Given the description of an element on the screen output the (x, y) to click on. 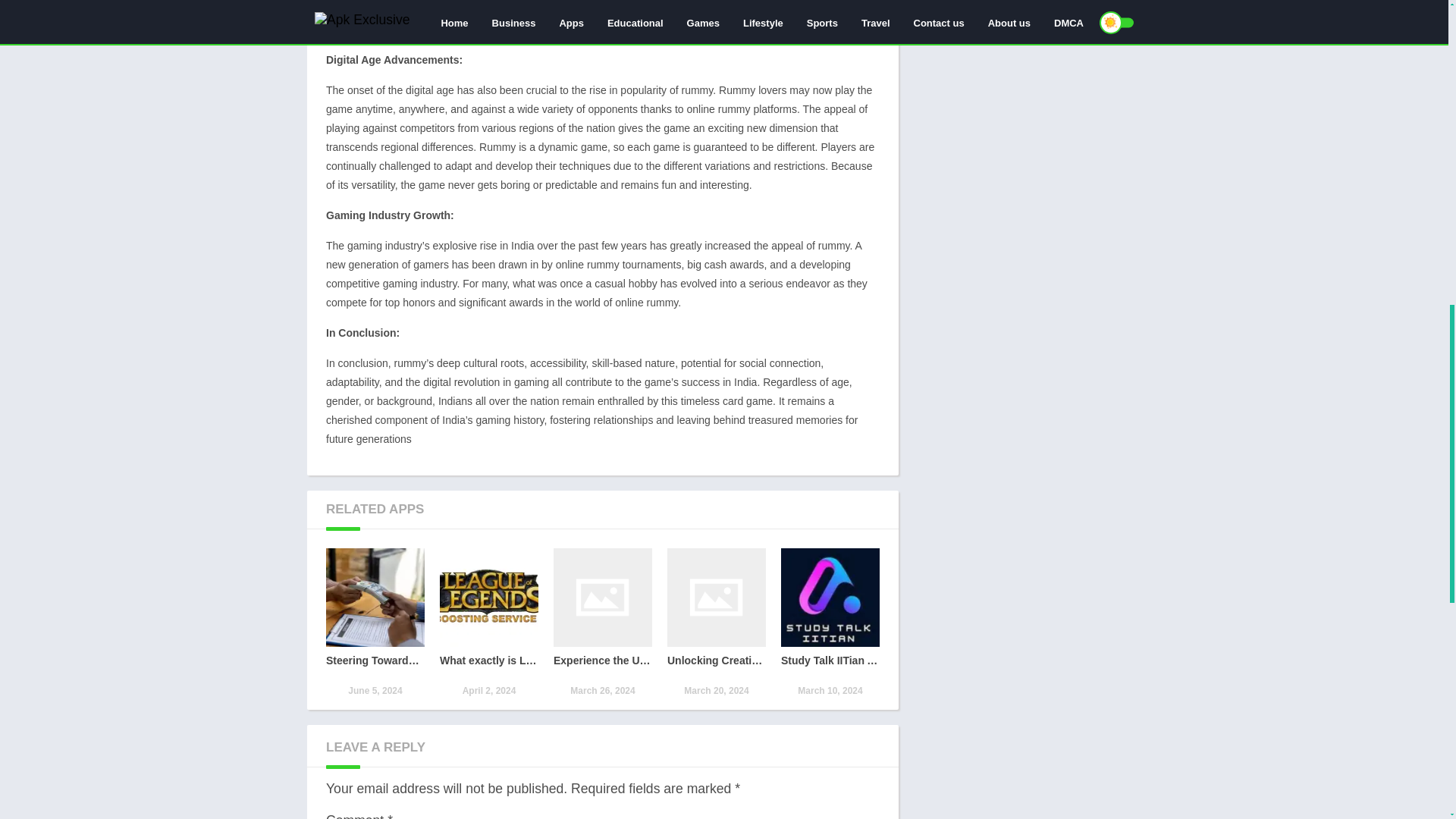
Study Talk IITian APK: A Learning App for Aspiring Engineers (829, 622)
What exactly is League of Legends boosting? (488, 622)
